Given the description of an element on the screen output the (x, y) to click on. 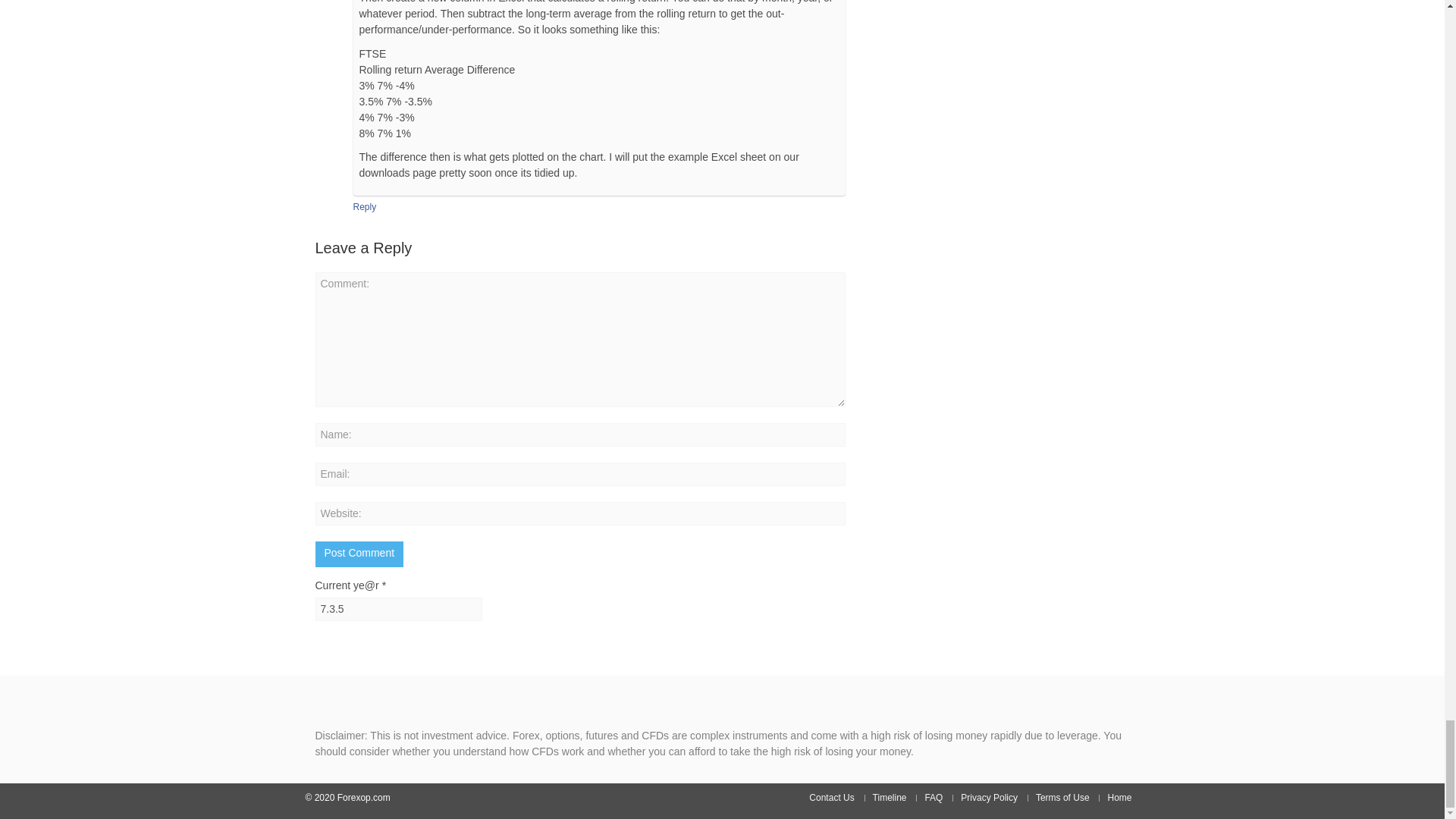
7.3.5 (398, 608)
Frequently asked questions (933, 796)
Post Comment (359, 554)
